Given the description of an element on the screen output the (x, y) to click on. 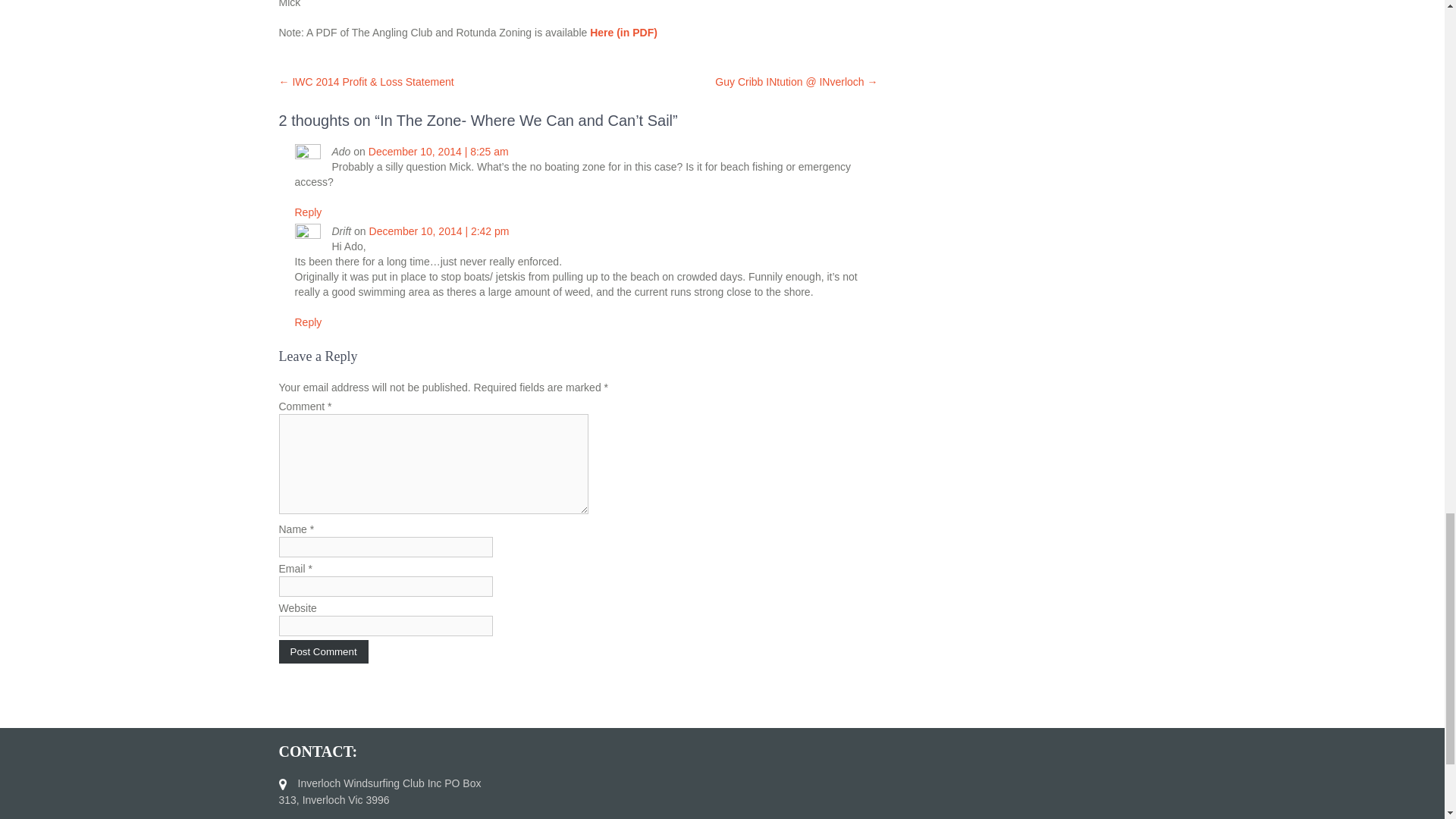
Post Comment (323, 651)
Reply (307, 212)
Reply (307, 322)
Post Comment (323, 651)
